Given the description of an element on the screen output the (x, y) to click on. 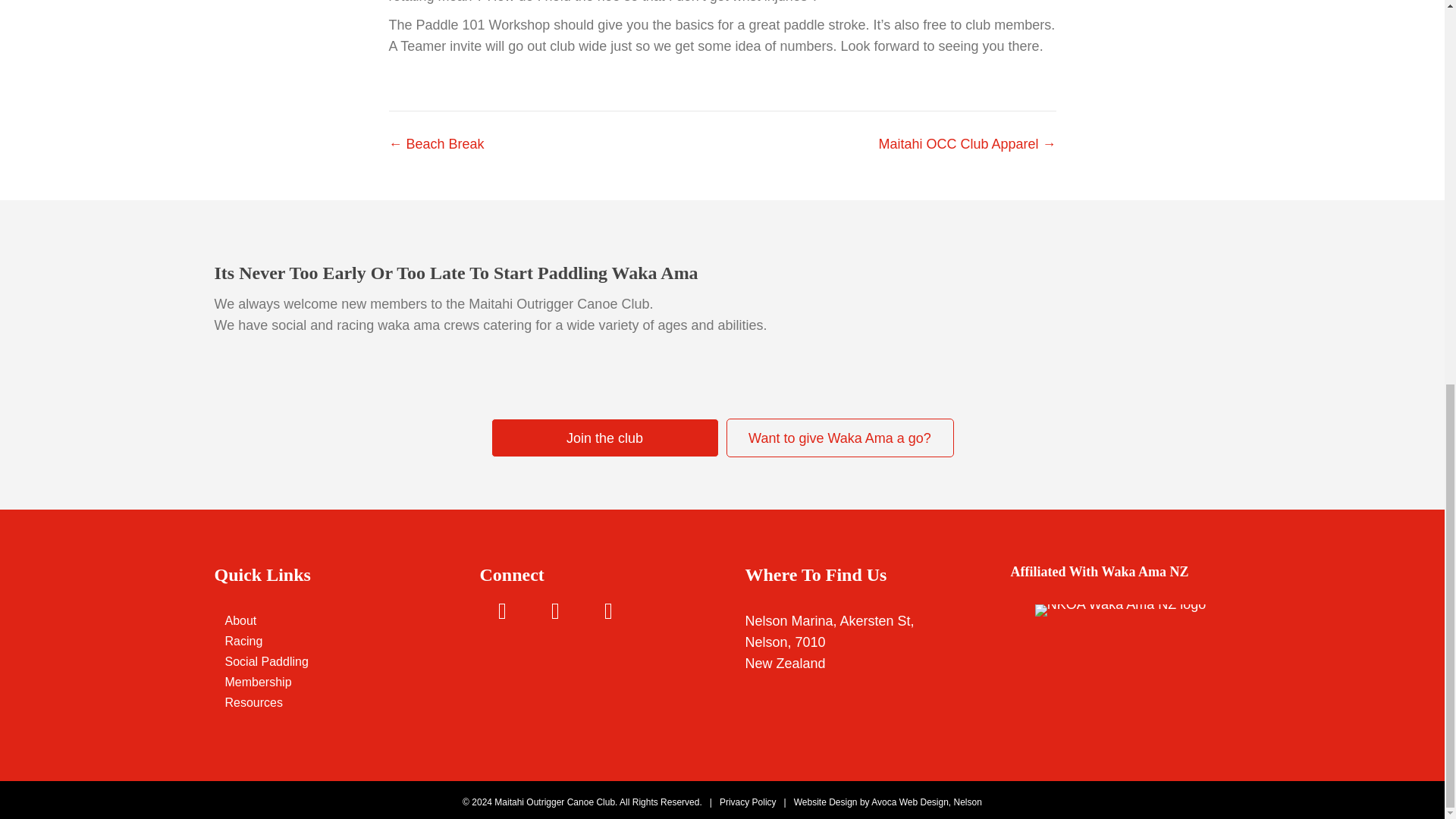
NKOA-Waka-Ama-NZ-Logo (1120, 610)
Facebook (555, 610)
Email (501, 610)
YouTube (607, 610)
